Given the description of an element on the screen output the (x, y) to click on. 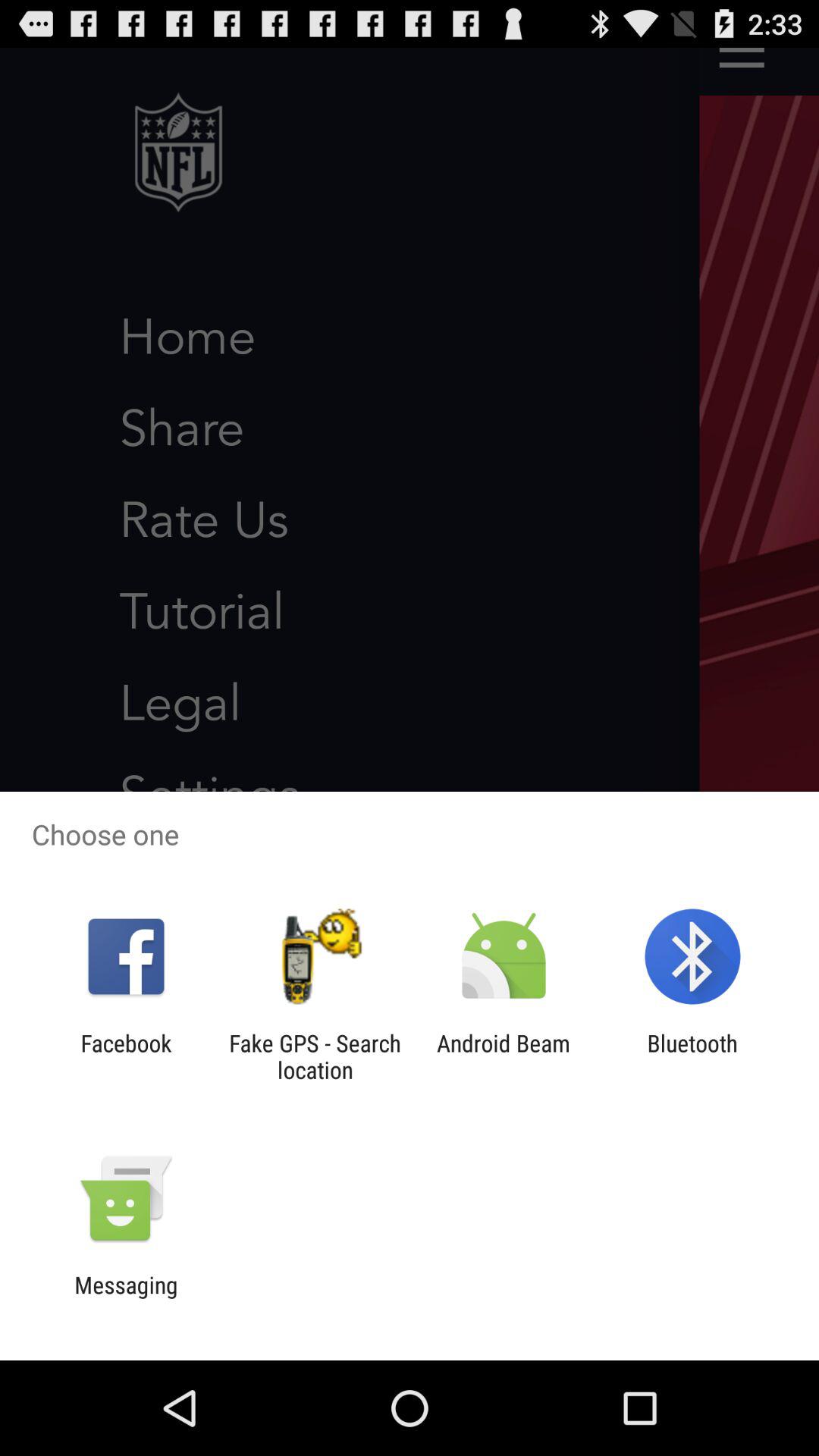
choose the icon to the right of fake gps search item (503, 1056)
